Given the description of an element on the screen output the (x, y) to click on. 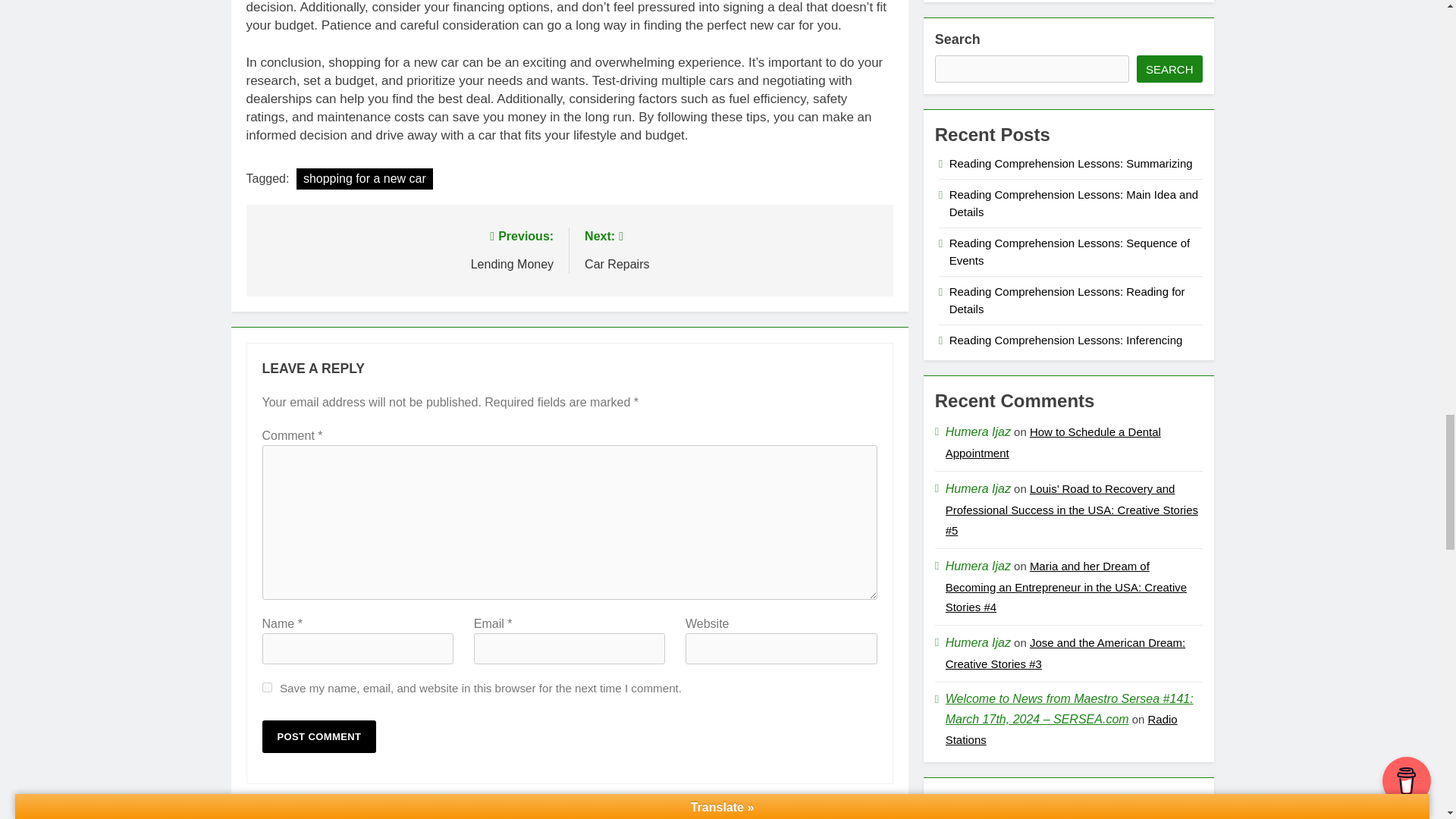
Post Comment (319, 736)
yes (267, 687)
